Given the description of an element on the screen output the (x, y) to click on. 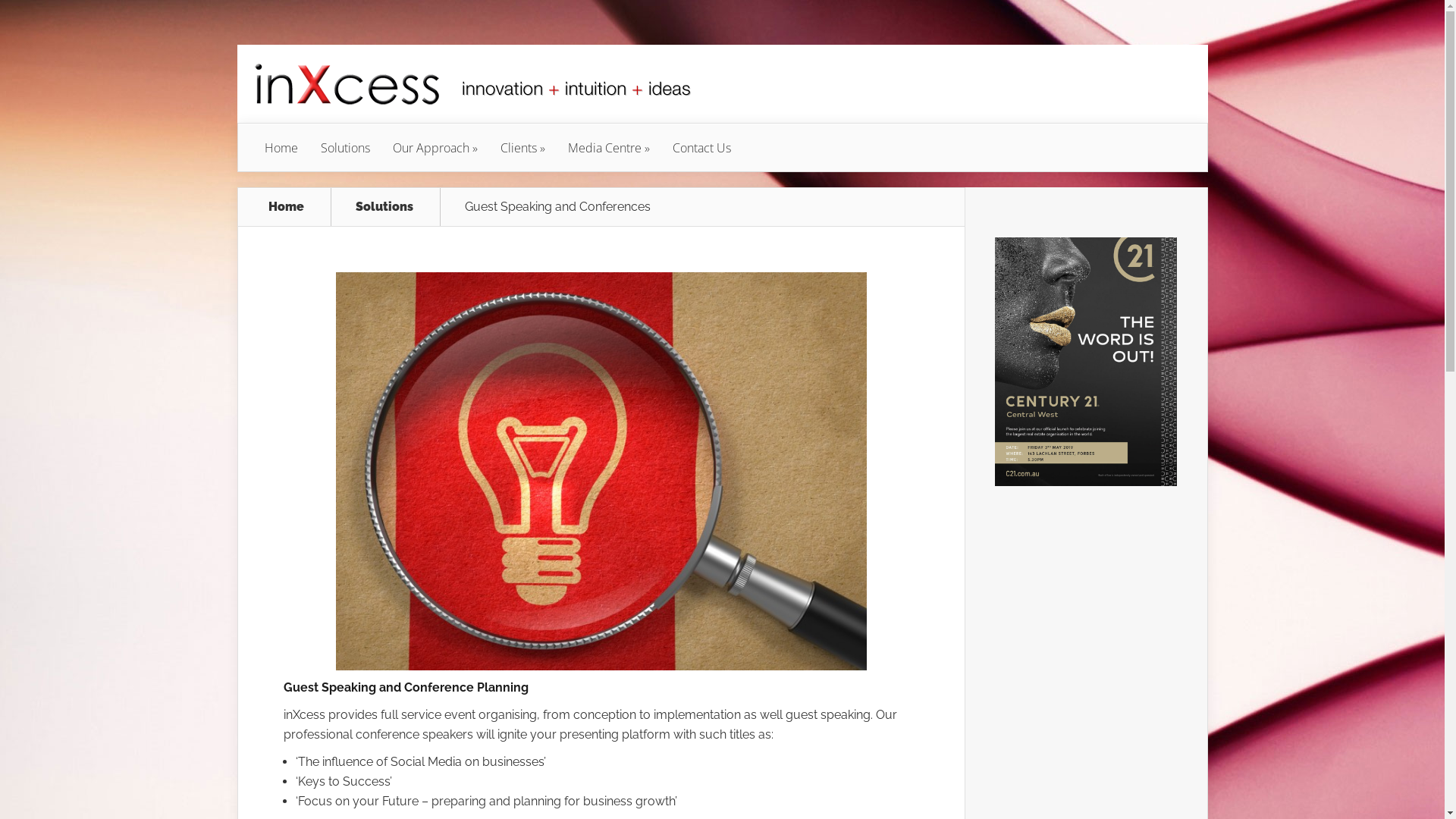
Solutions Element type: text (392, 206)
Contact Us Element type: text (701, 147)
Home Element type: text (286, 206)
Home Element type: text (281, 147)
Solutions Element type: text (345, 147)
